Given the description of an element on the screen output the (x, y) to click on. 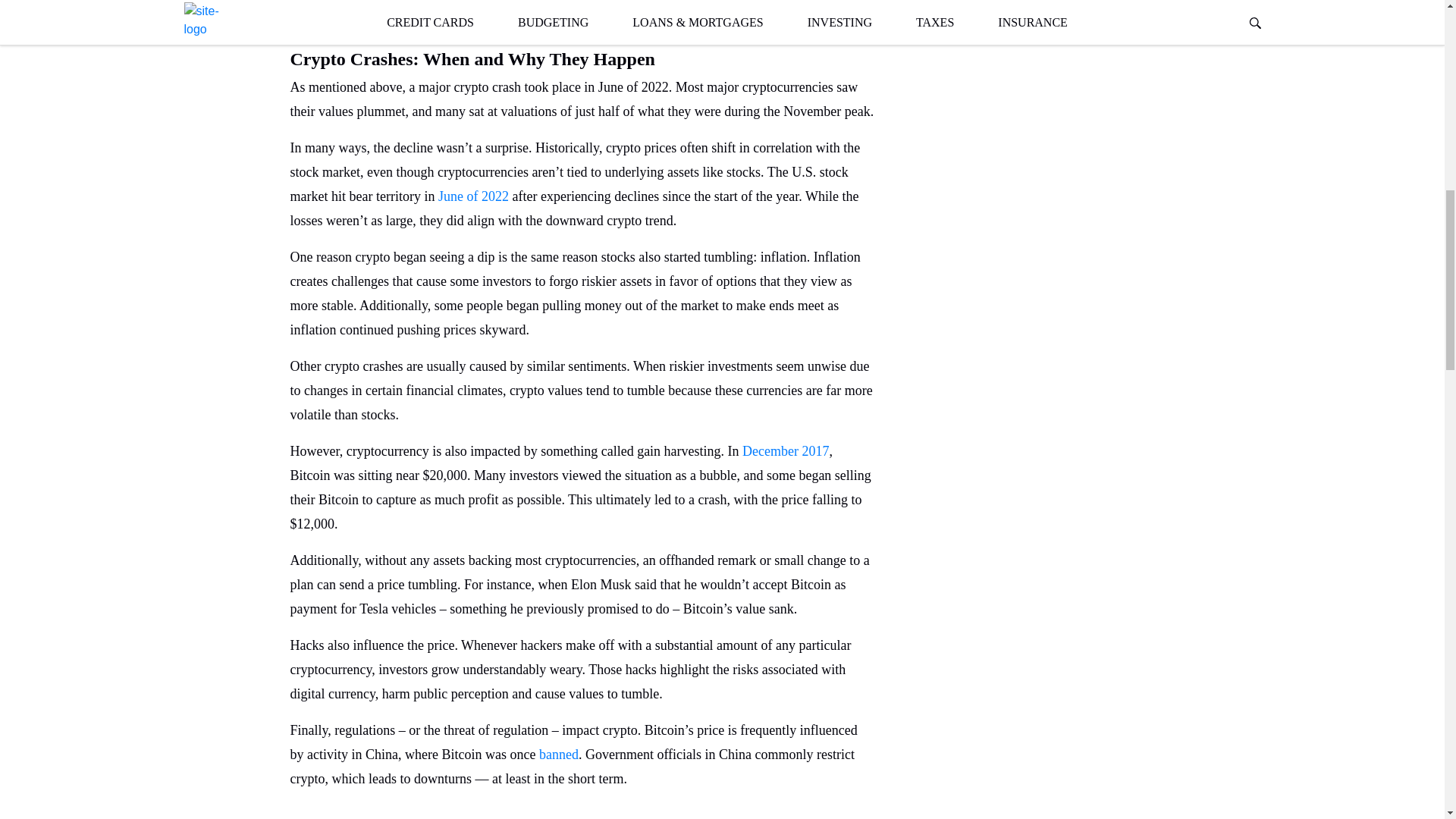
Crypto Crashes: When and Why They Happen (581, 55)
